Given the description of an element on the screen output the (x, y) to click on. 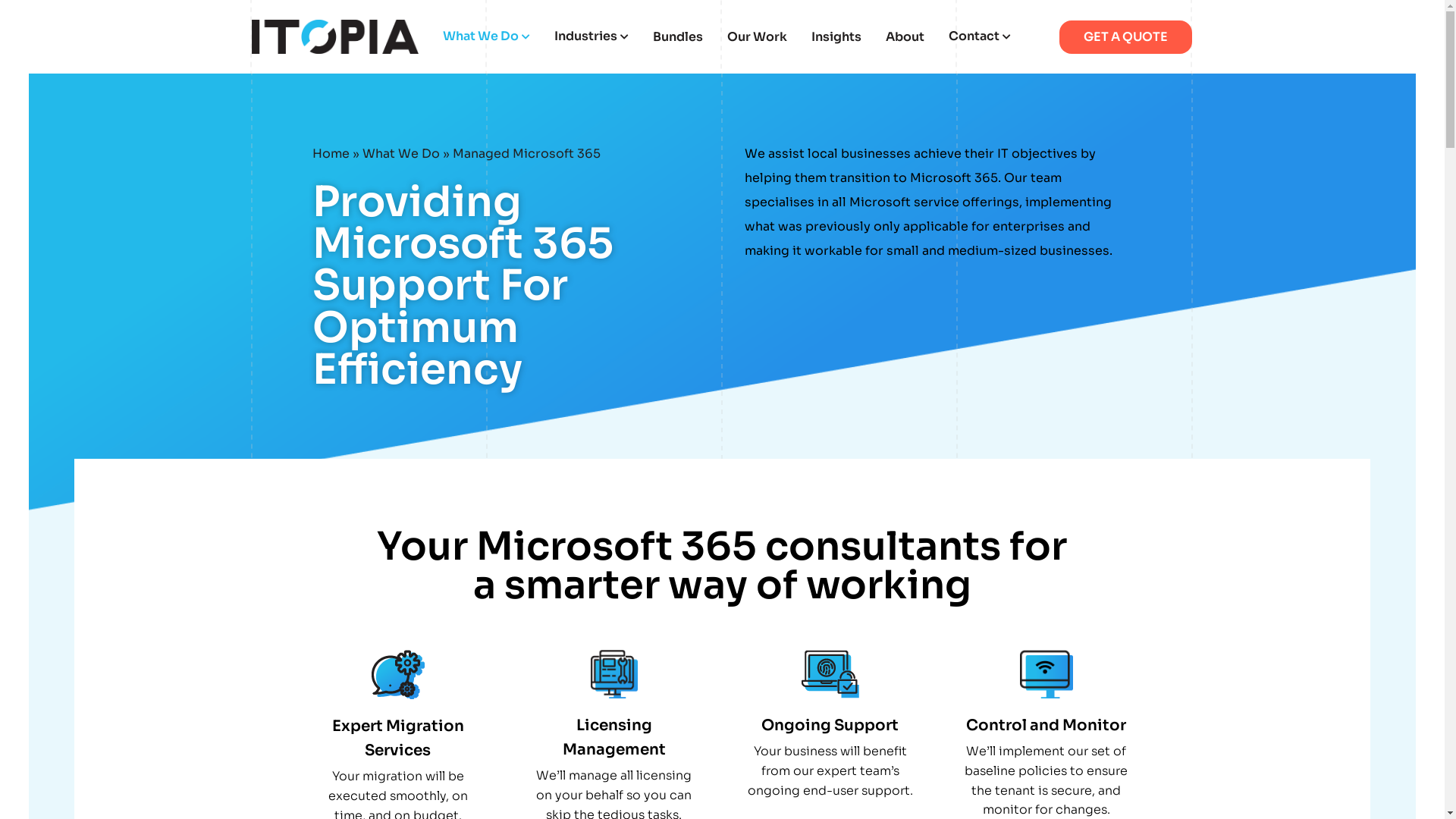
Skip to main content Element type: text (0, 0)
Industries Element type: text (591, 36)
About Element type: text (904, 36)
Bundles Element type: text (677, 36)
Contact Element type: text (979, 36)
Insights Element type: text (836, 36)
Home Element type: text (330, 153)
GET A QUOTE Element type: text (1125, 36)
Our Work Element type: text (757, 36)
computer-hardware Element type: hover (613, 673)
What We Do Element type: text (400, 153)
What We Do Element type: text (486, 36)
